Given the description of an element on the screen output the (x, y) to click on. 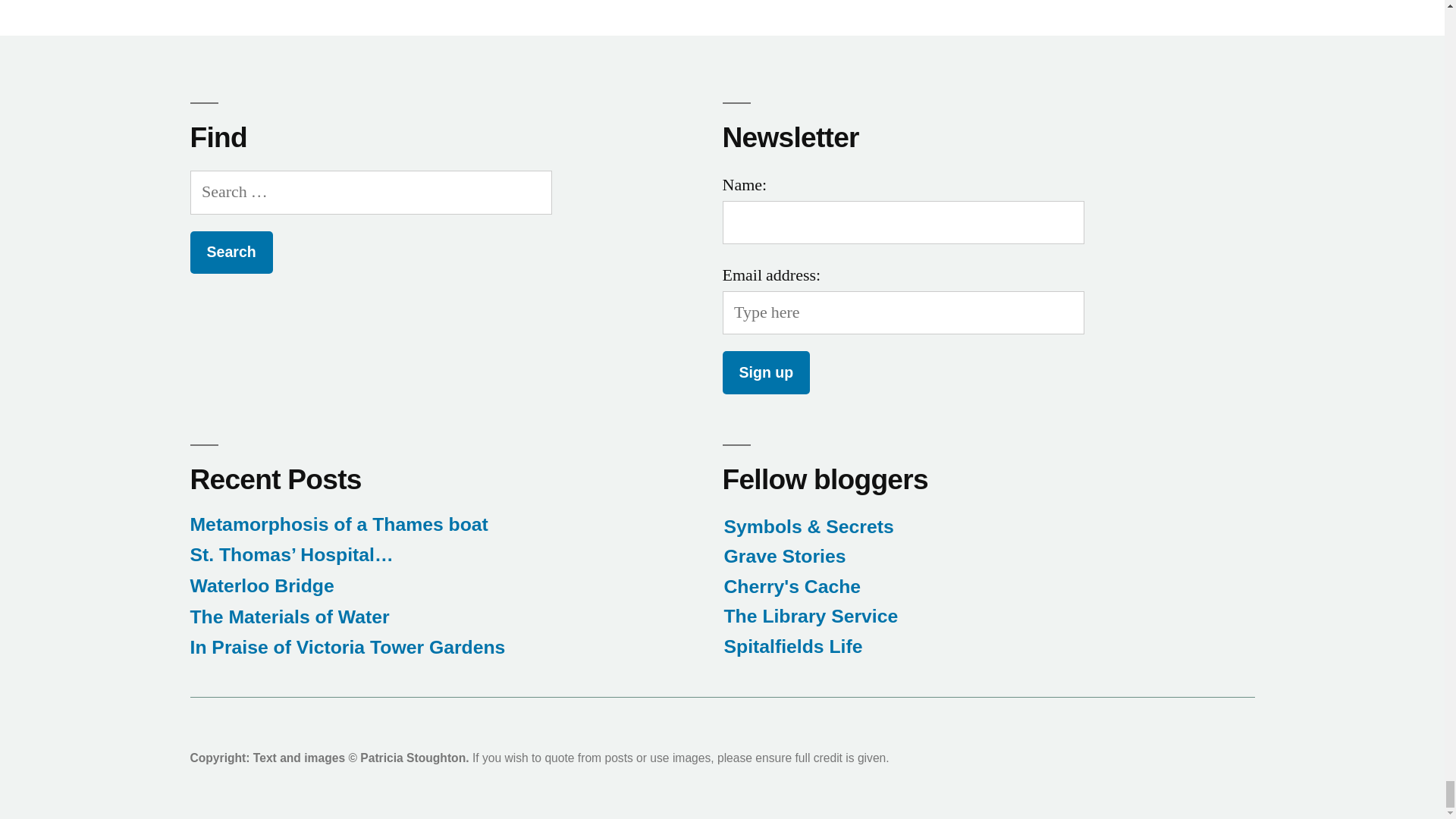
Search (230, 251)
Sign up (765, 372)
Sign up (765, 372)
Search (230, 251)
Search (230, 251)
Metamorphosis of a Thames boat (338, 524)
